Given the description of an element on the screen output the (x, y) to click on. 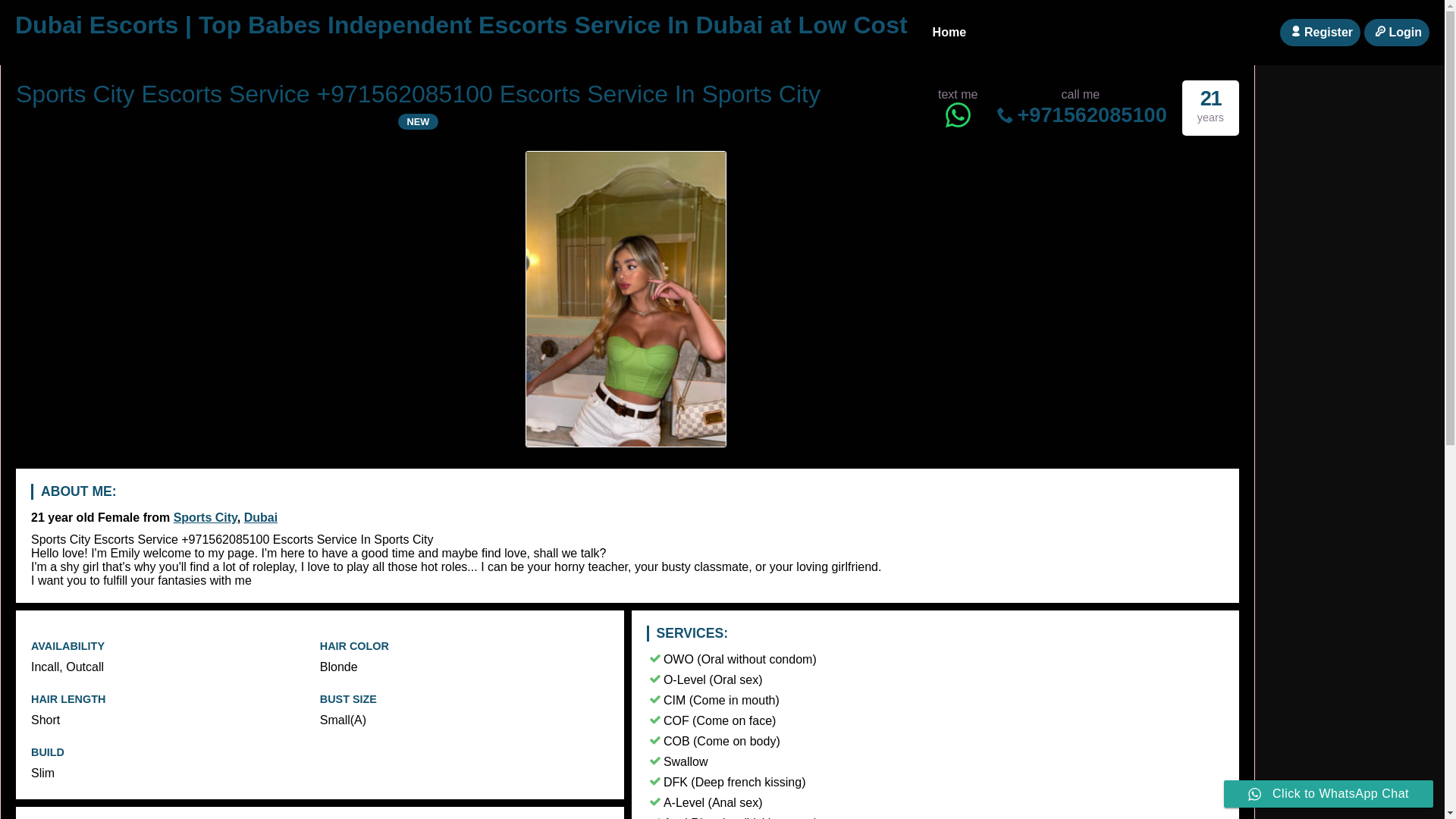
Dubai (261, 517)
Login (1396, 31)
Register (1319, 31)
Dubai (261, 517)
Sports City (205, 517)
Home (949, 33)
Sports City (205, 517)
